Given the description of an element on the screen output the (x, y) to click on. 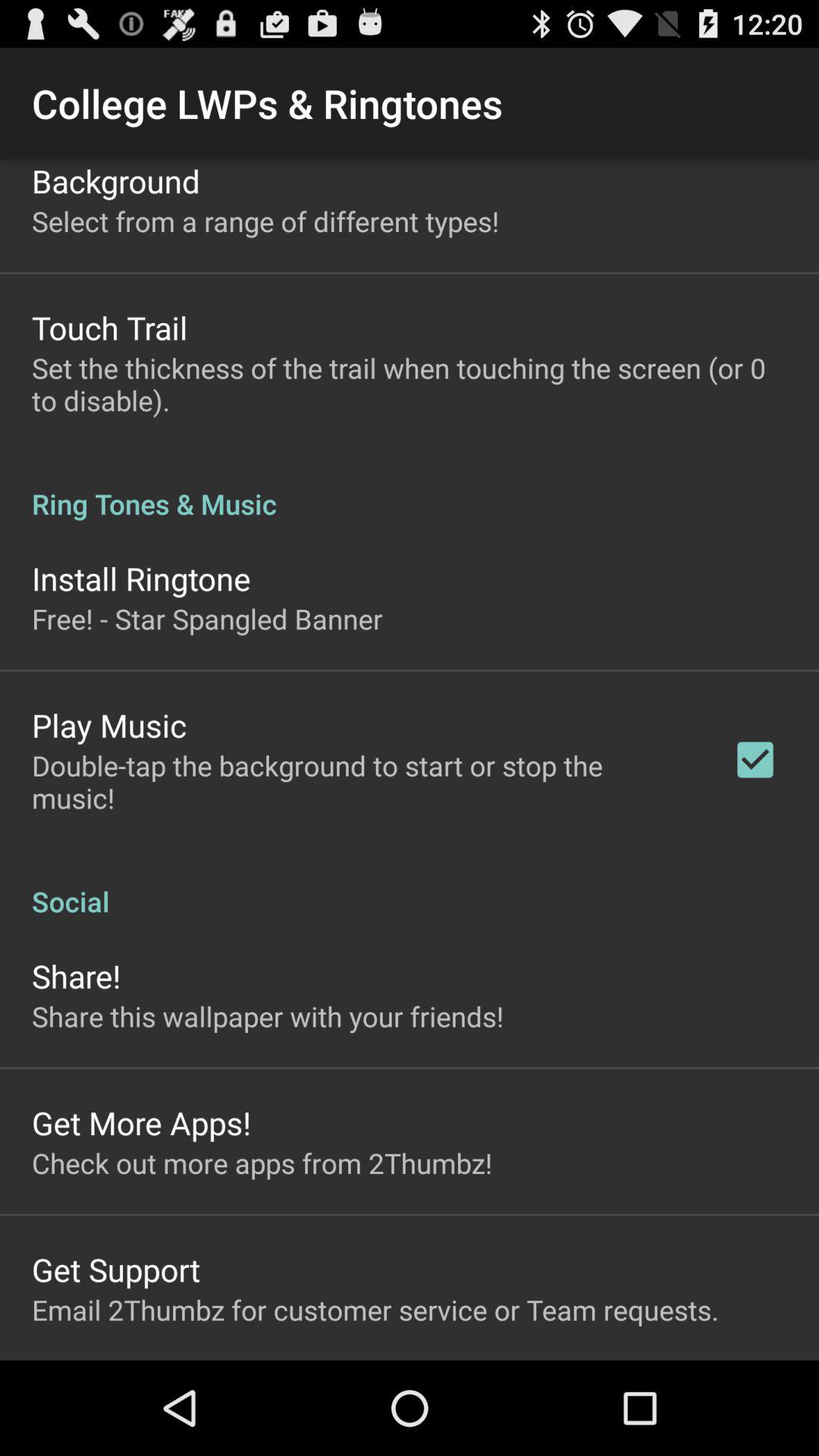
turn on app above the play music item (206, 618)
